Given the description of an element on the screen output the (x, y) to click on. 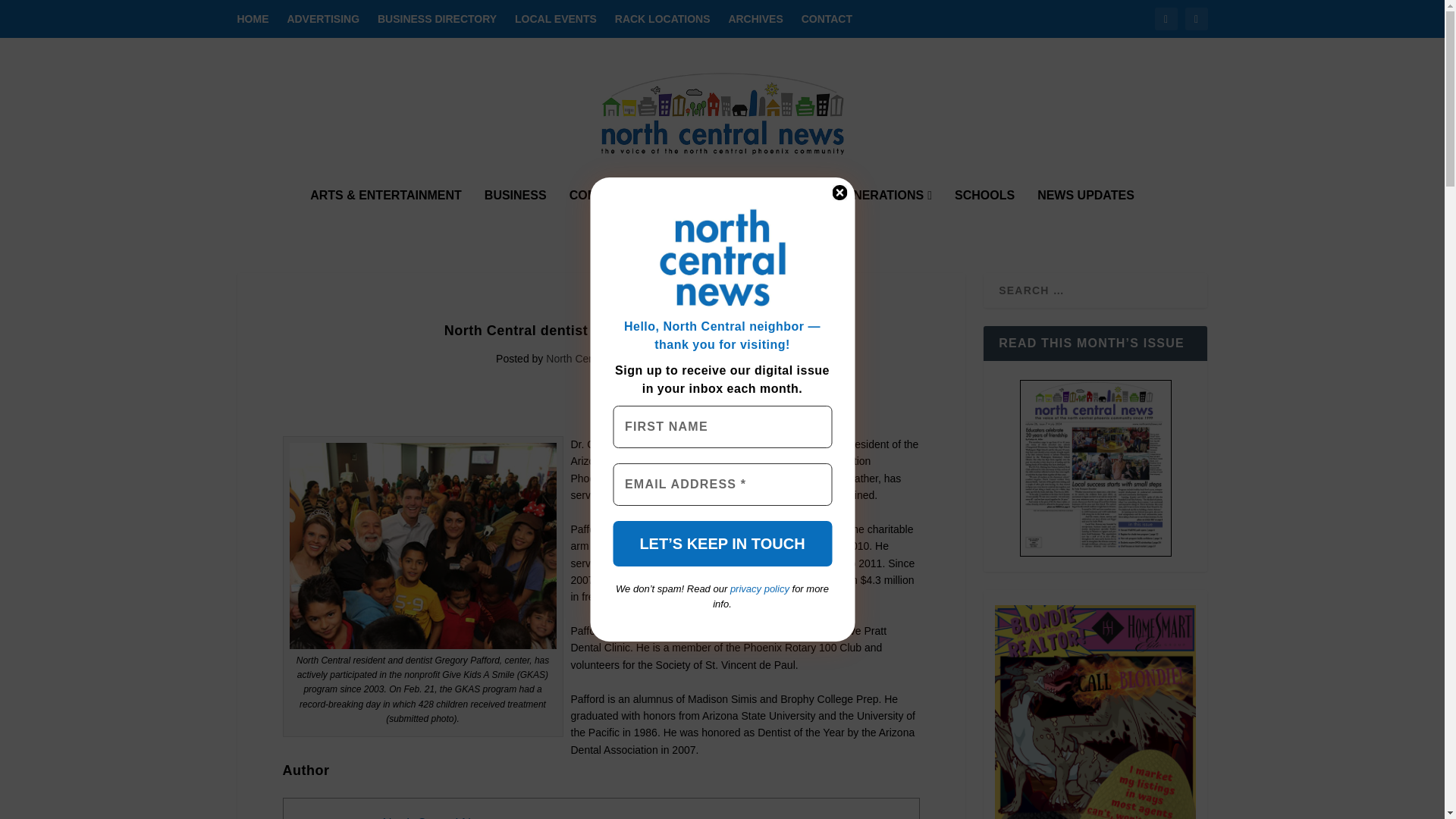
North Central News (437, 817)
ADVERTISING (322, 18)
FEATURES (780, 215)
COMMUNITY (610, 215)
First name (721, 426)
BUSINESS (515, 215)
RACK LOCATIONS (662, 18)
NEWS UPDATES (1085, 215)
BUSINESS DIRECTORY (436, 18)
Email Address (721, 484)
CONTACT (826, 18)
DINING (700, 215)
ARCHIVES (755, 18)
LOCAL EVENTS (555, 18)
SCHOOLS (984, 215)
